Given the description of an element on the screen output the (x, y) to click on. 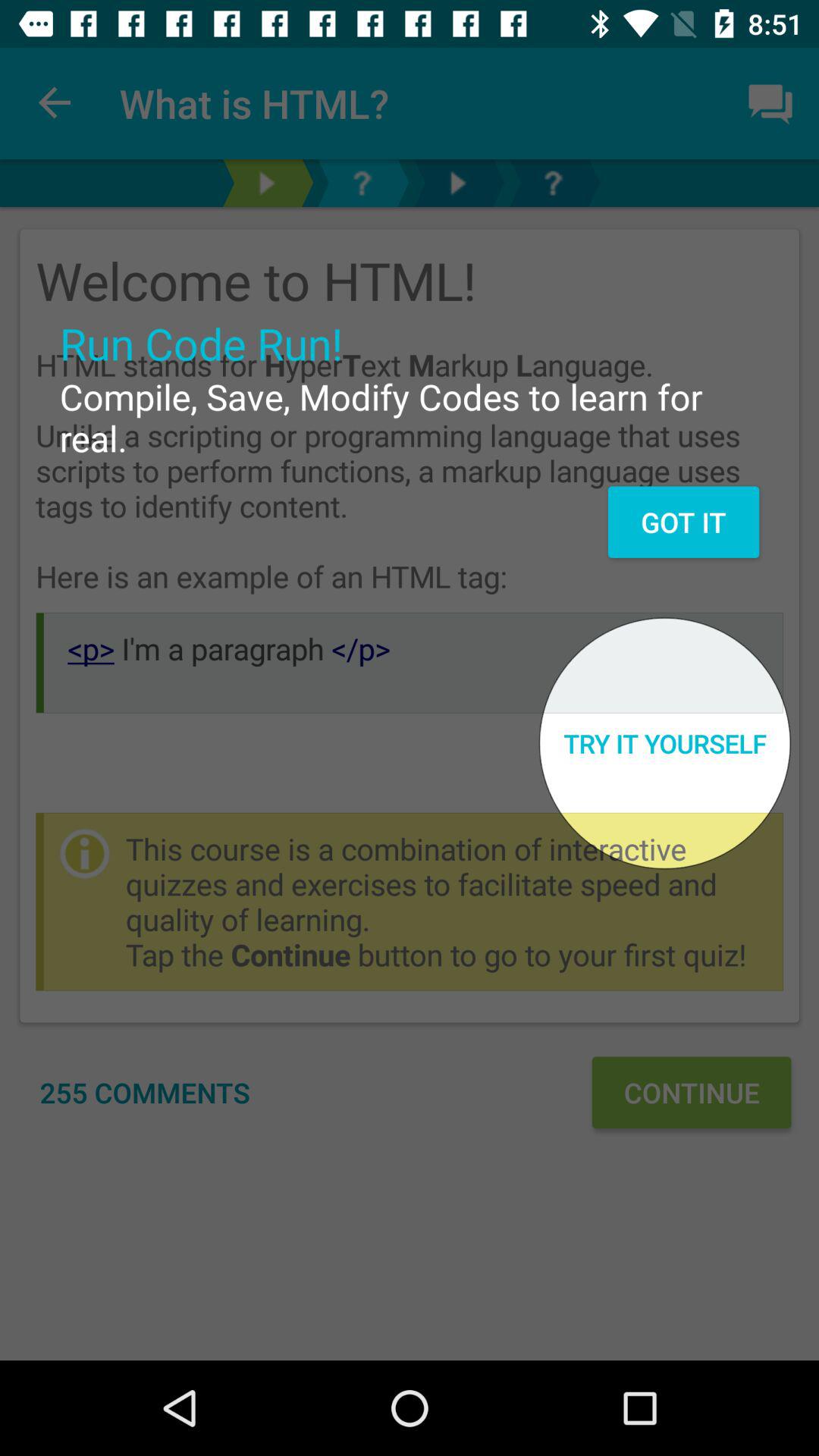
open help page (552, 183)
